Given the description of an element on the screen output the (x, y) to click on. 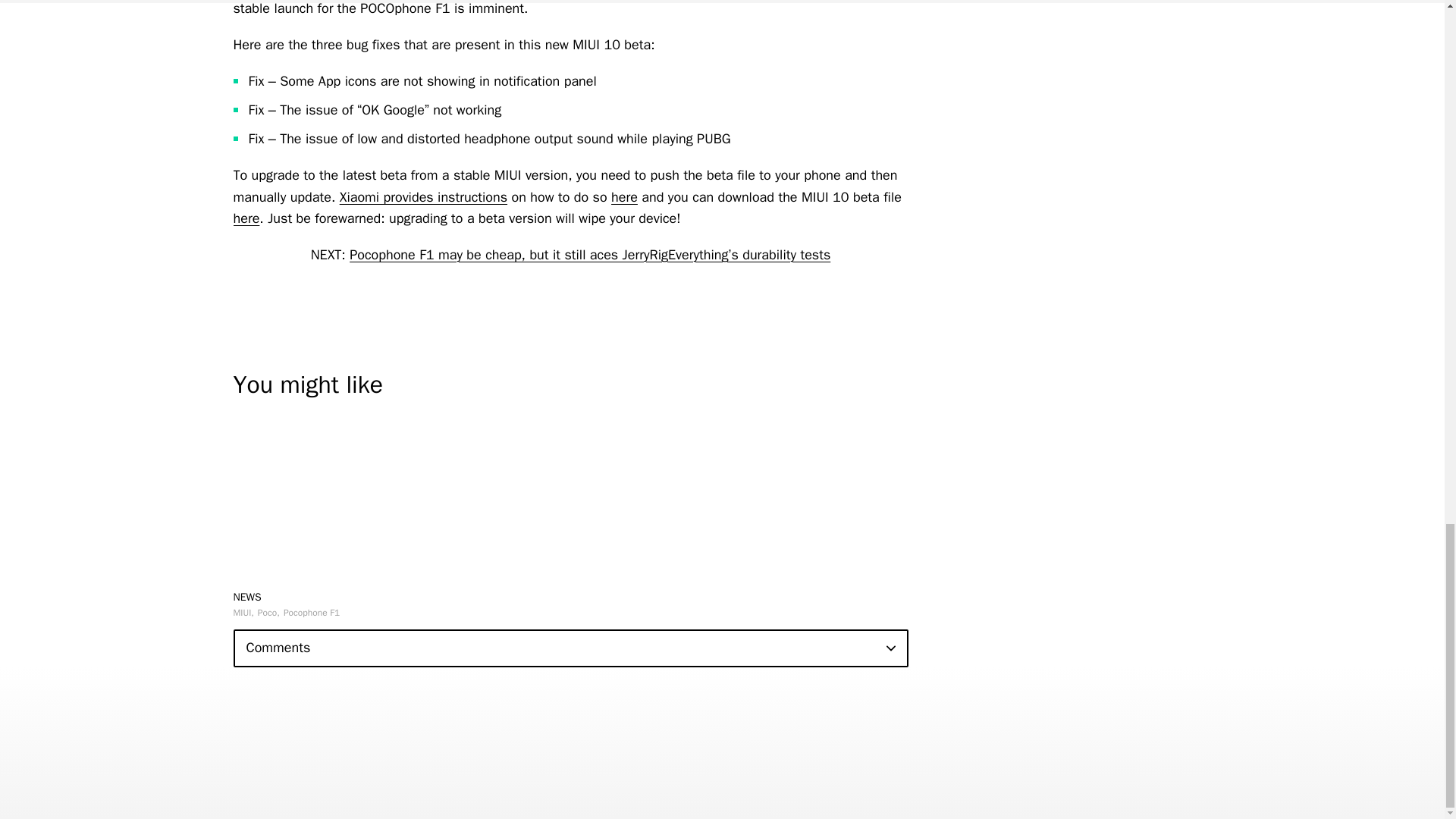
Xiaomi provides instructions (422, 197)
here (624, 197)
NEWS (247, 596)
here (246, 217)
MIUI (242, 612)
